Given the description of an element on the screen output the (x, y) to click on. 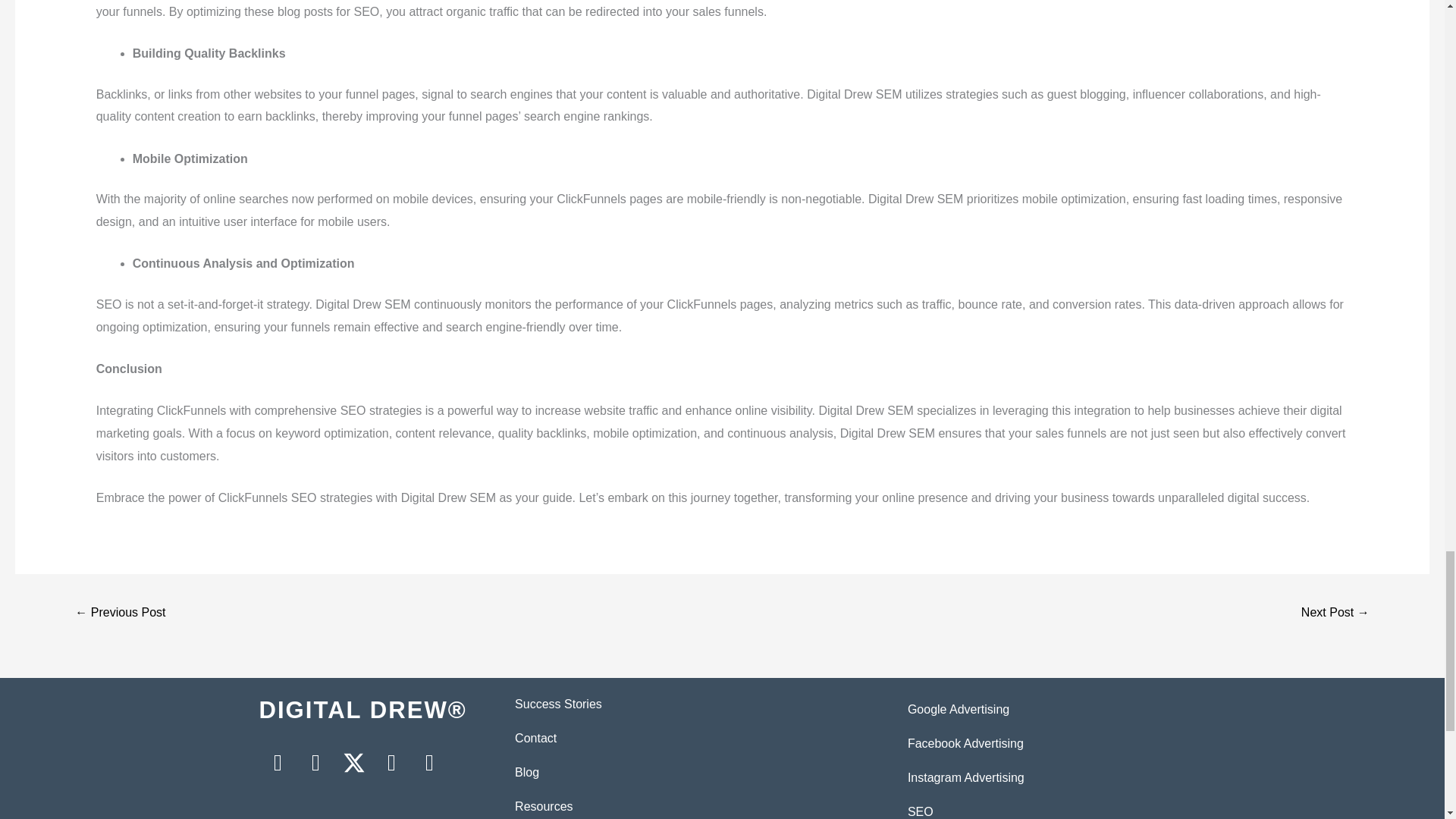
Blog (526, 771)
Instagram (315, 762)
YouTube (429, 762)
Facebook (278, 762)
Contact (535, 738)
LinkedIn (391, 762)
Success Stories (558, 703)
Resources (543, 806)
